Given the description of an element on the screen output the (x, y) to click on. 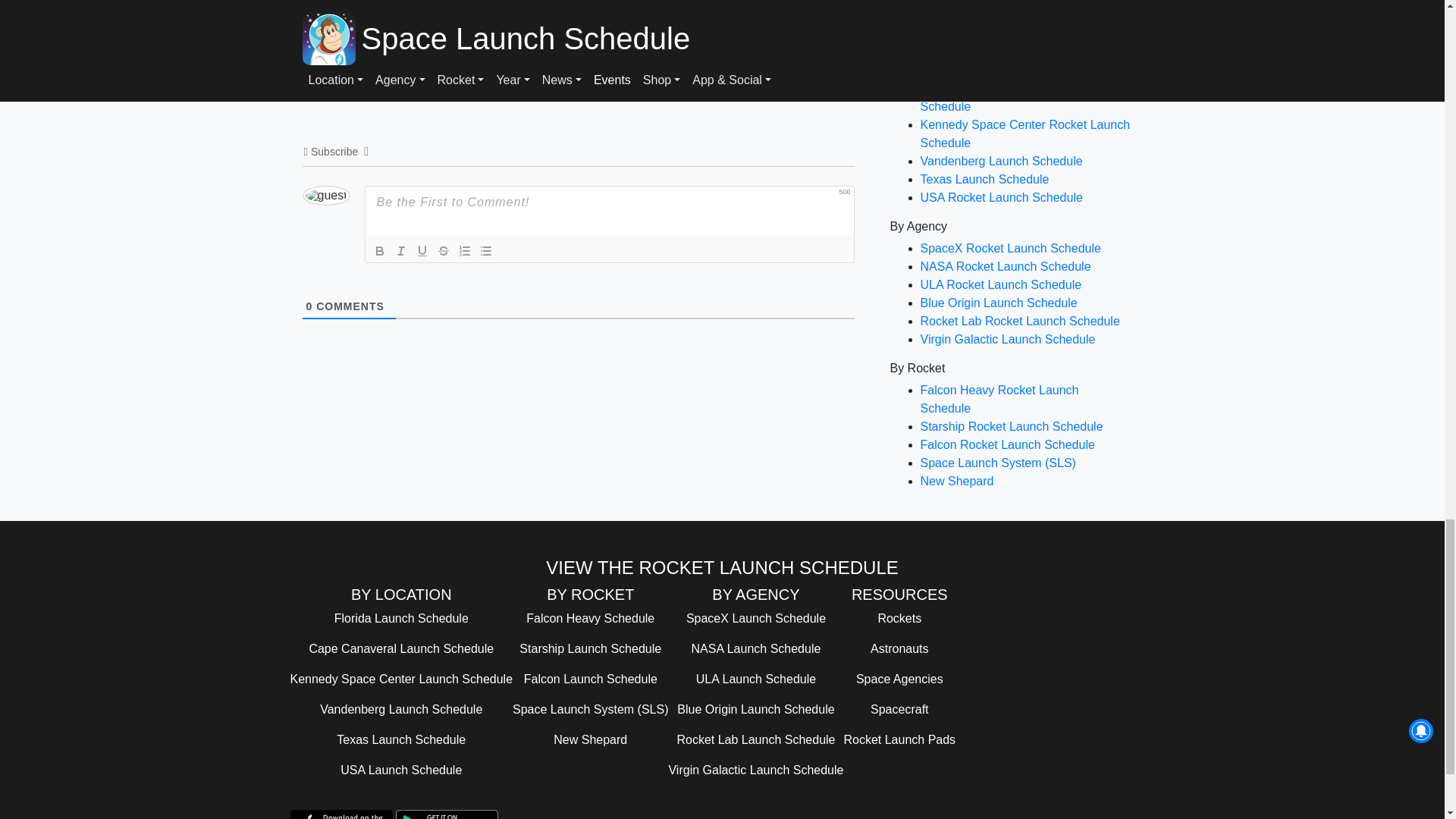
Unordered List (485, 250)
Strike (442, 250)
Underline (421, 250)
Bold (379, 250)
Italic (400, 250)
Ordered List (463, 250)
